Given the description of an element on the screen output the (x, y) to click on. 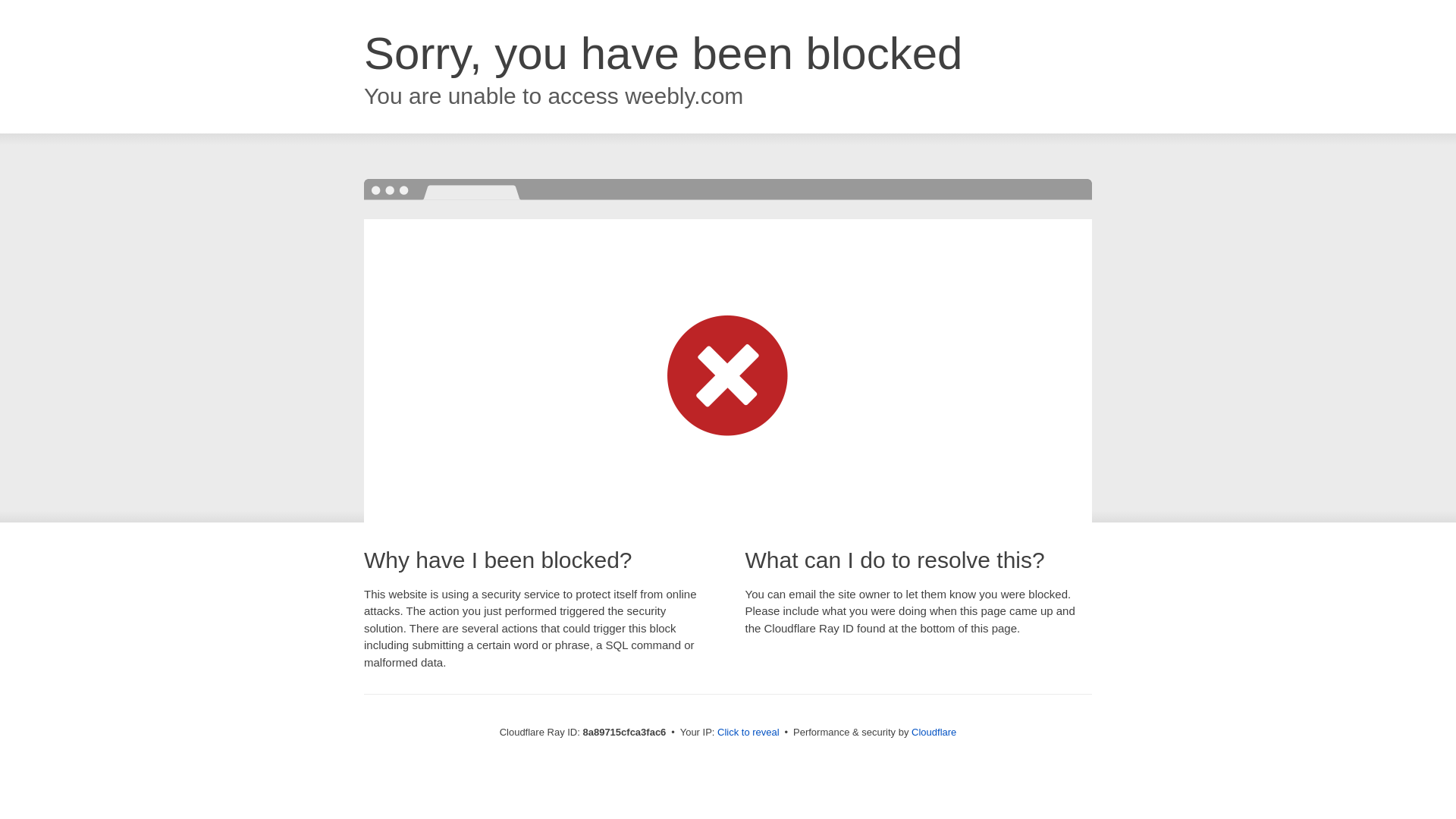
Click to reveal (747, 732)
Cloudflare (933, 731)
